Given the description of an element on the screen output the (x, y) to click on. 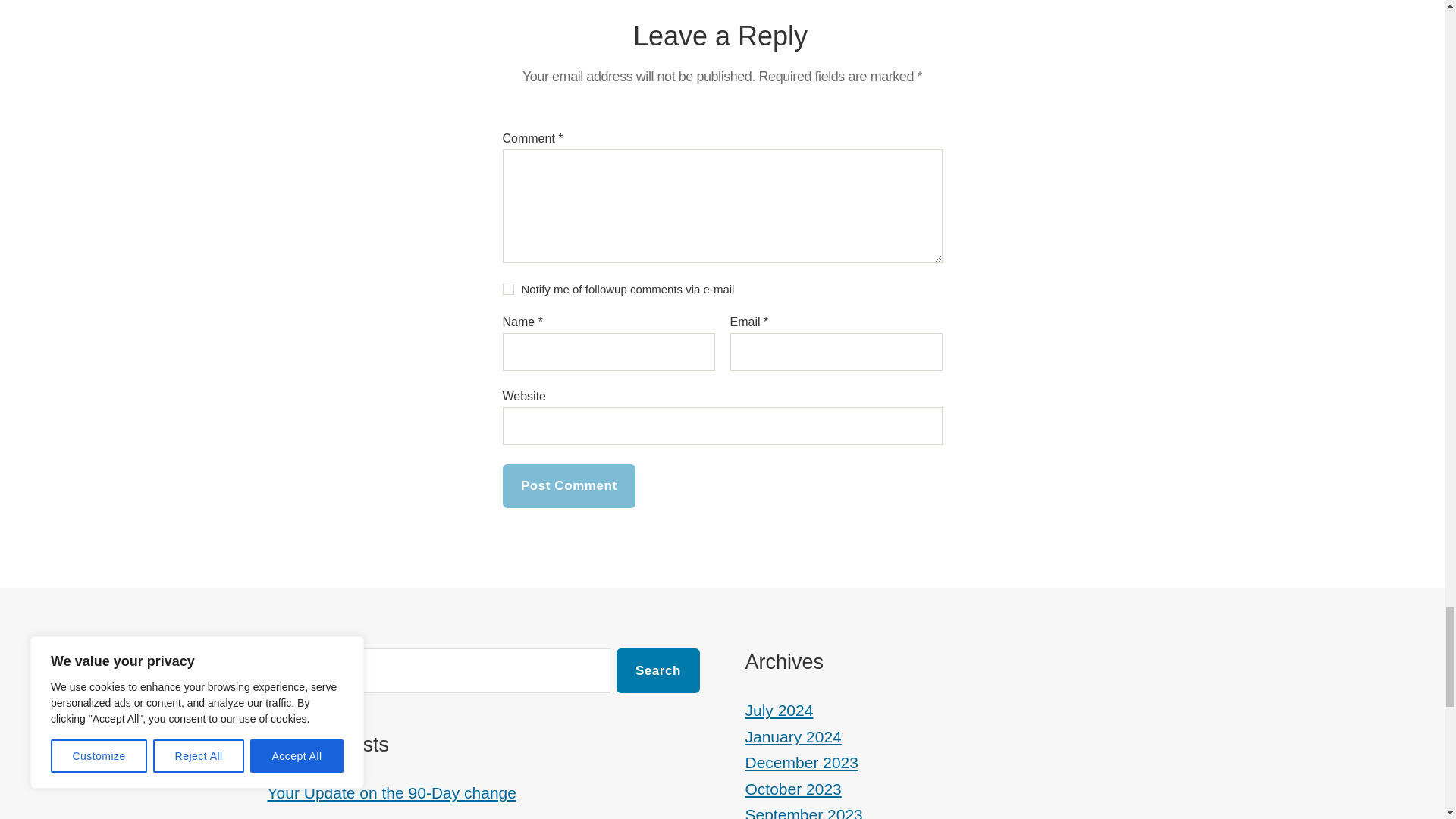
Post Comment (568, 486)
Search (656, 670)
subscribe (507, 288)
Search (656, 670)
